Given the description of an element on the screen output the (x, y) to click on. 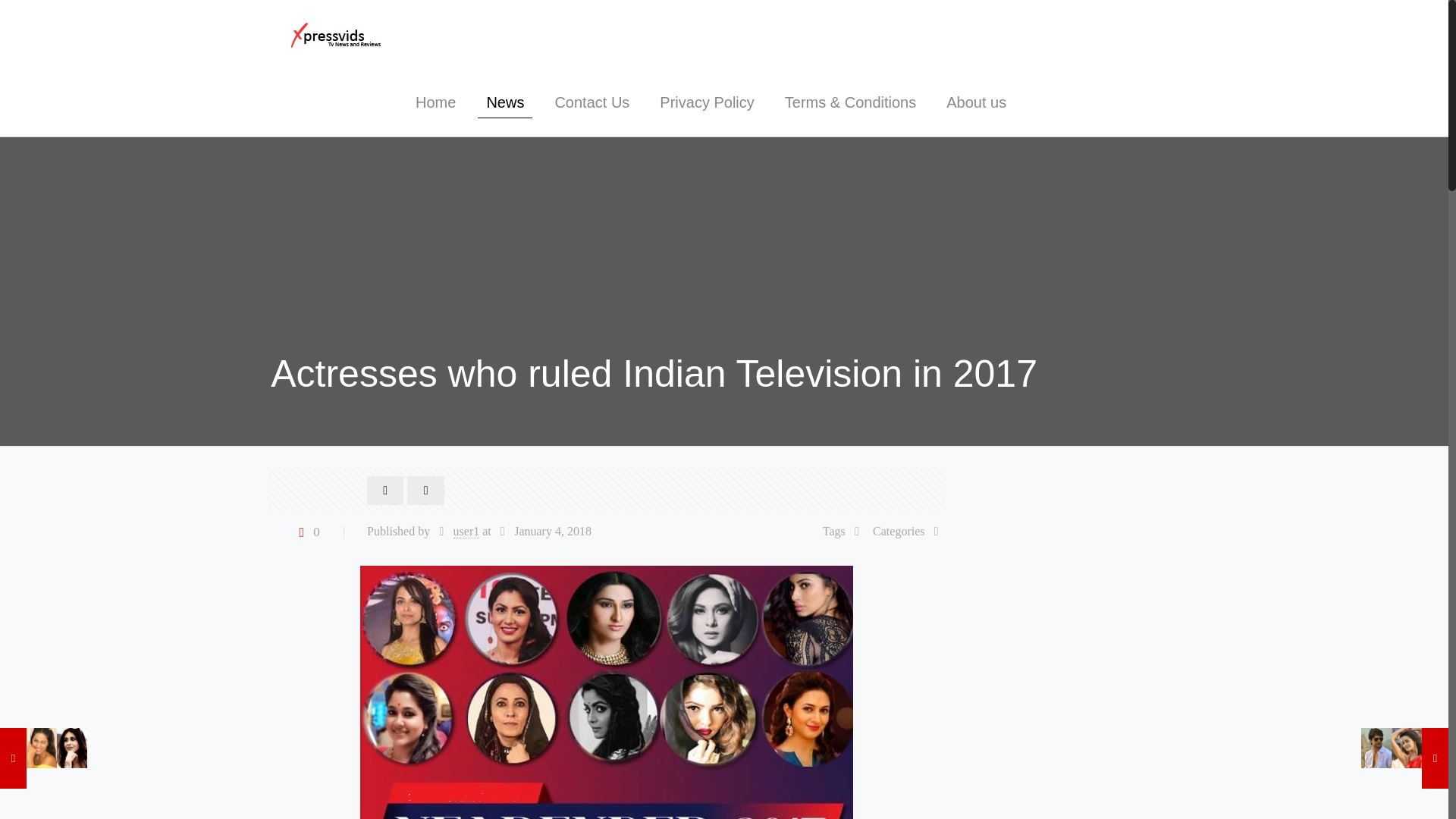
user1 (466, 531)
Privacy Policy (706, 101)
Home (435, 101)
Xpress Vids (339, 33)
0 (306, 530)
About us (976, 101)
News (504, 101)
Contact Us (591, 101)
